Given the description of an element on the screen output the (x, y) to click on. 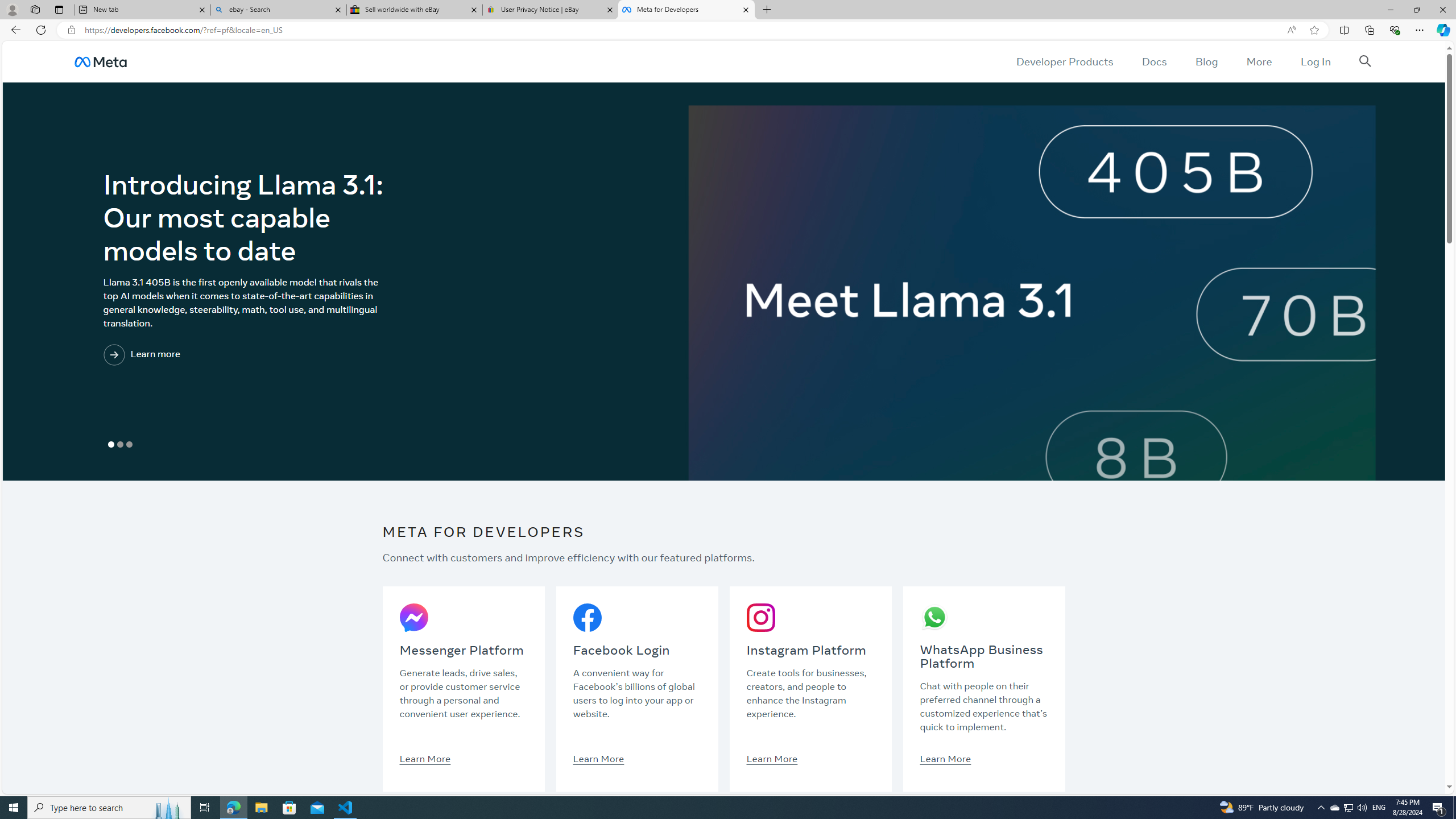
More (1259, 61)
App bar (728, 29)
Developer Products (1064, 61)
Show Slide 1 (111, 444)
Docs (1153, 61)
Sell worldwide with eBay (414, 9)
Learn more (188, 355)
More (1259, 61)
Meta for Developers (685, 9)
